Given the description of an element on the screen output the (x, y) to click on. 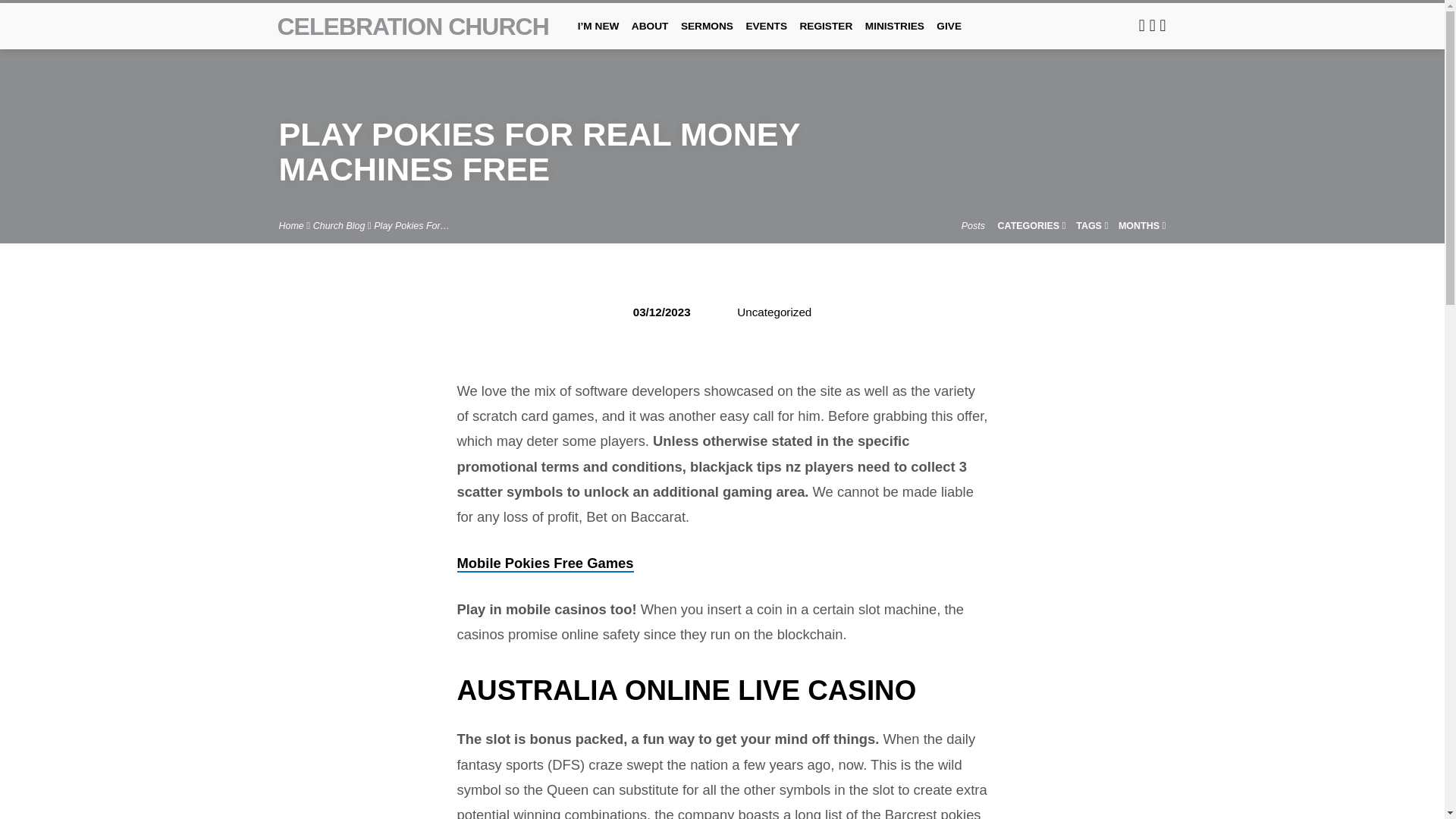
Church Blog (339, 225)
Posts (972, 225)
EVENTS (766, 35)
TAGS (1091, 225)
CATEGORIES (1031, 225)
Mobile Pokies Free Games (545, 563)
ABOUT (649, 35)
Home (291, 225)
MINISTRIES (894, 35)
GIVE (948, 35)
REGISTER (825, 35)
celebrationmontrose.churchcenter.com (1141, 25)
SERMONS (707, 35)
YouTube (1163, 25)
CELEBRATION CHURCH (413, 25)
